Given the description of an element on the screen output the (x, y) to click on. 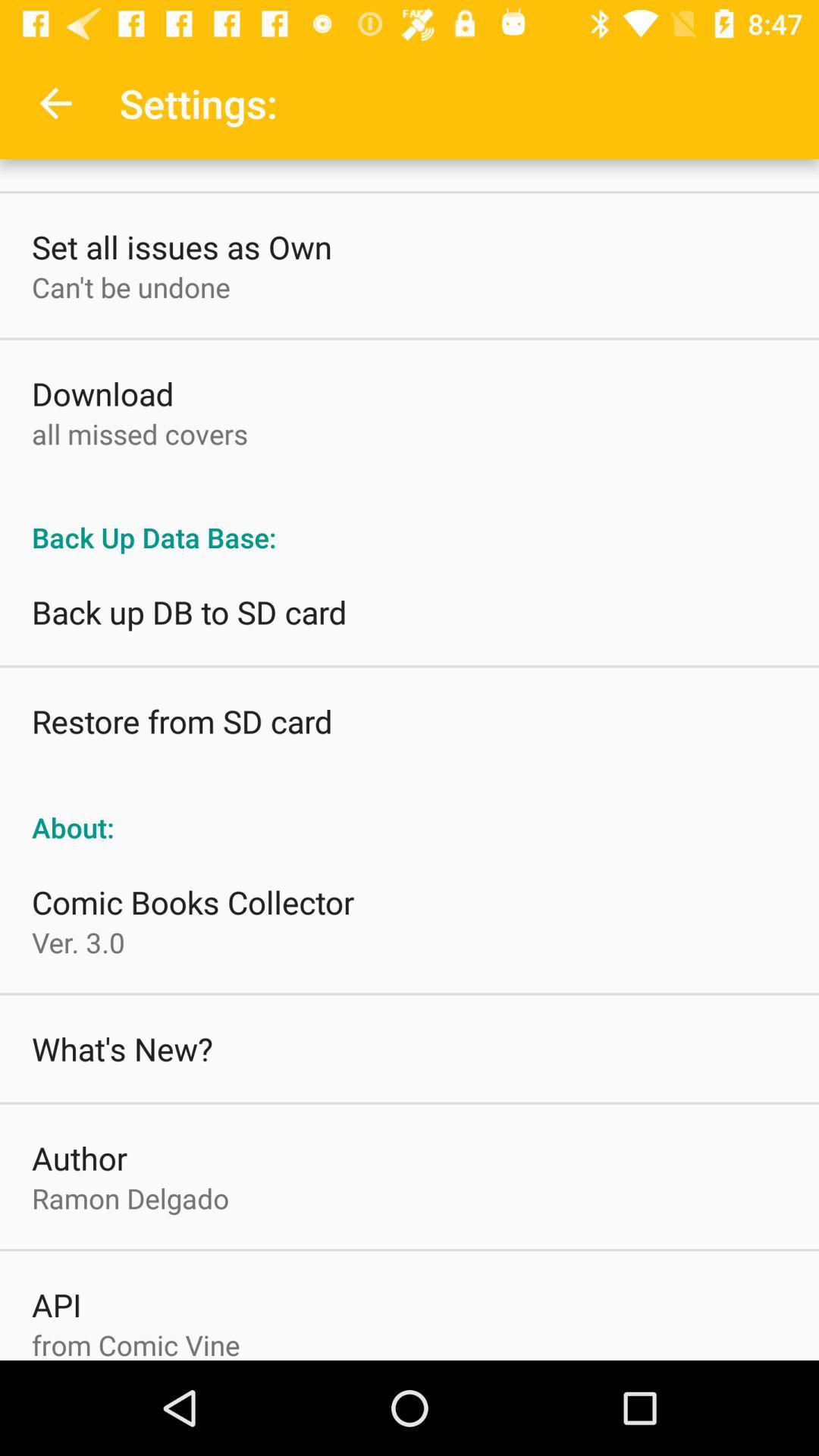
turn off the app to the left of settings: (55, 103)
